Given the description of an element on the screen output the (x, y) to click on. 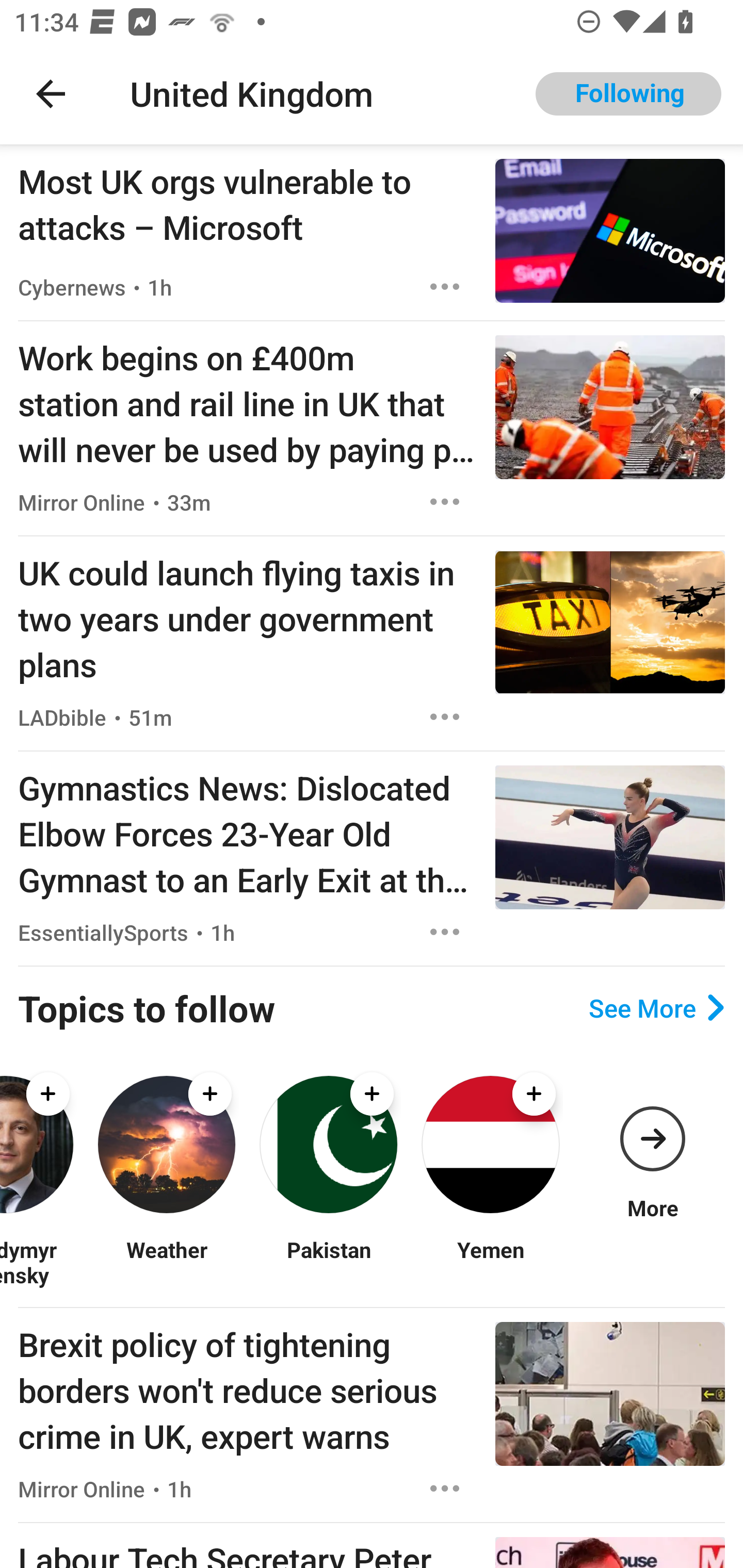
Navigate up (50, 93)
Following (628, 94)
Options (444, 286)
Options (444, 501)
Options (444, 716)
Options (444, 932)
See More (656, 1007)
More (652, 1144)
Weather (166, 1261)
Pakistan (328, 1261)
Yemen (490, 1261)
Options (444, 1488)
